Given the description of an element on the screen output the (x, y) to click on. 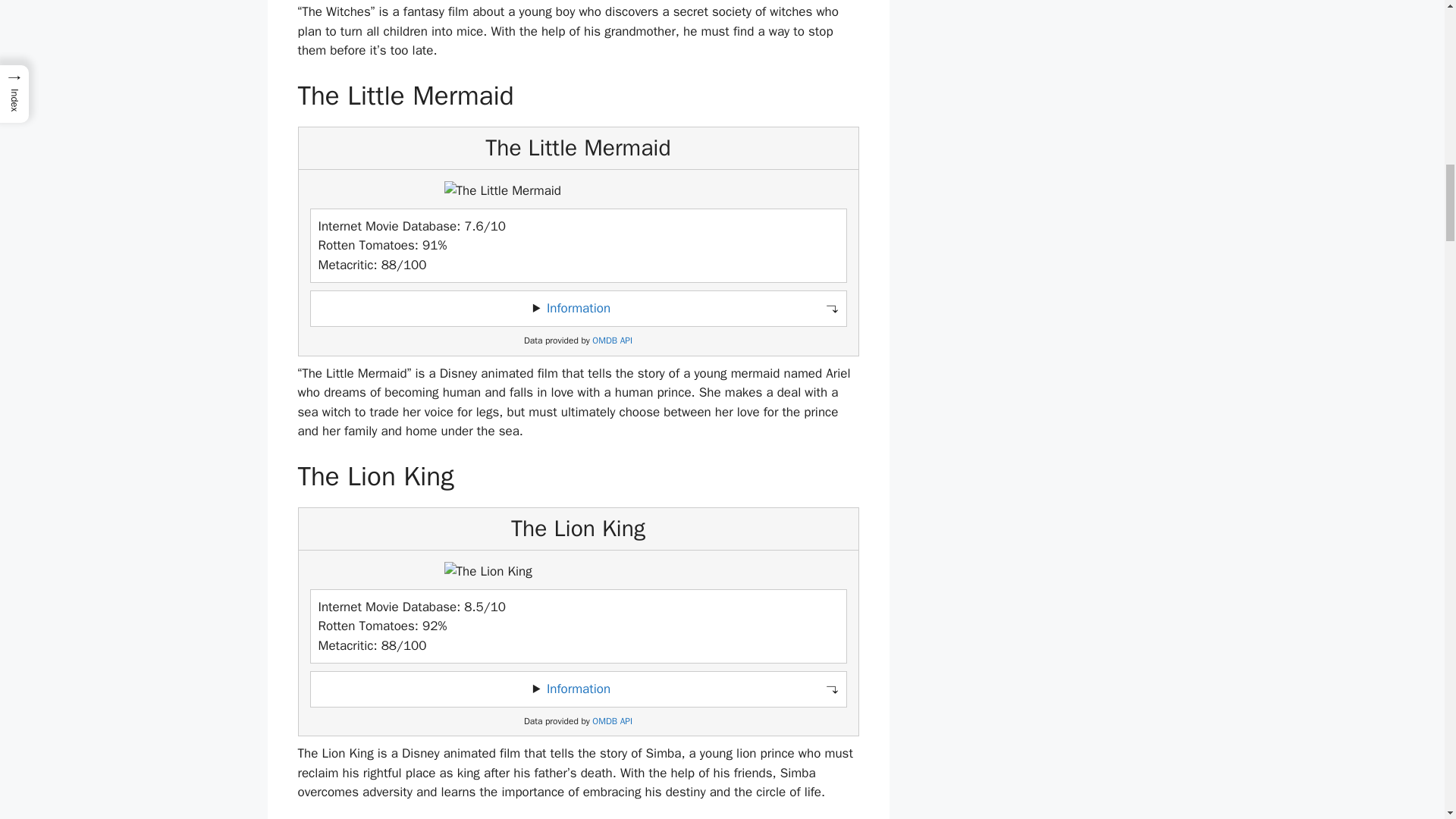
Information (578, 308)
Toggle information (578, 308)
OMDB API (611, 340)
Open Movie Database API (611, 721)
Information (578, 688)
Open Movie Database API (611, 340)
Toggle information (578, 688)
OMDB API (611, 721)
